Given the description of an element on the screen output the (x, y) to click on. 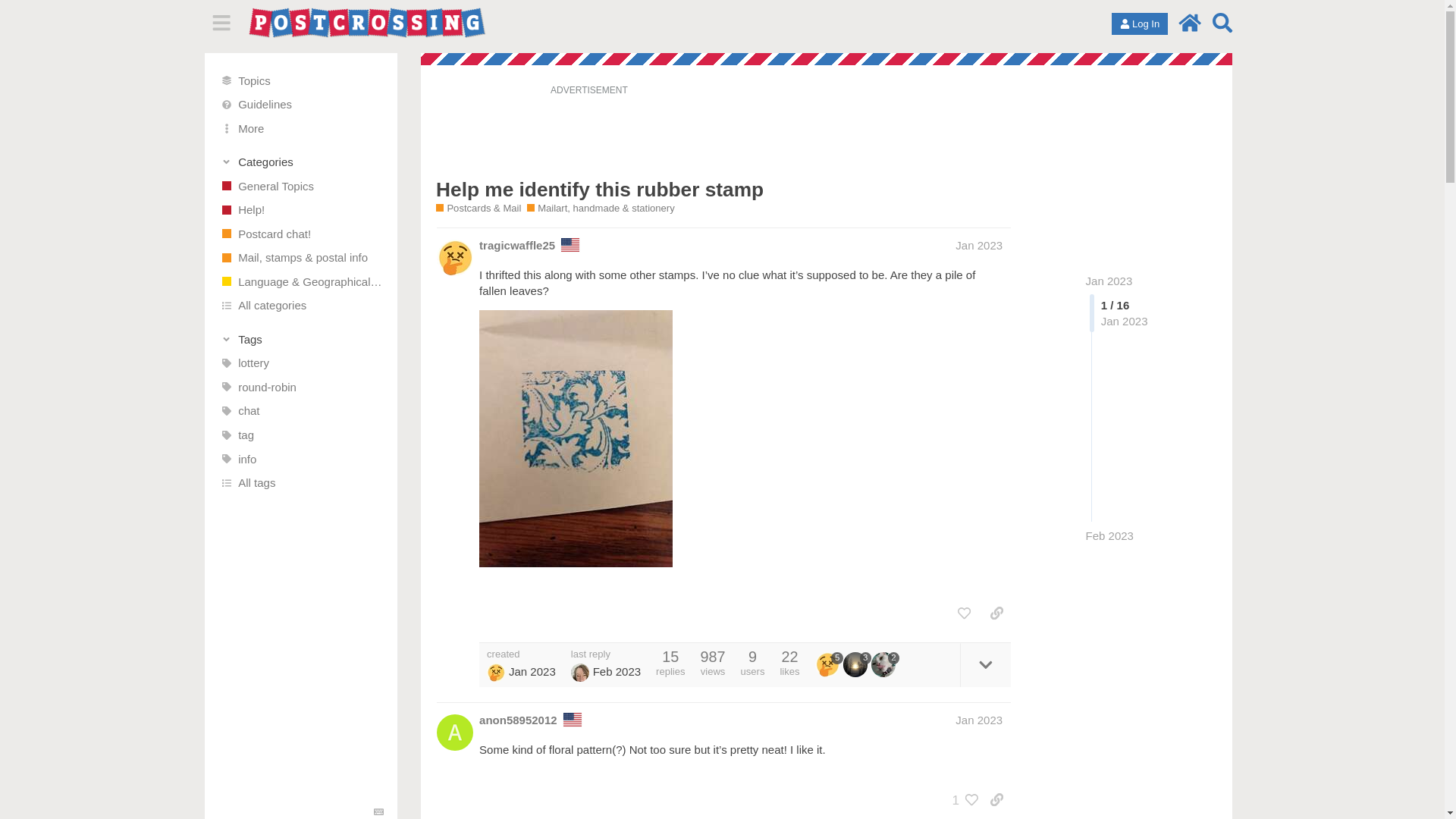
Postcard chat! (301, 233)
Win a card or something else (301, 363)
Toggle section (301, 338)
Categories (301, 161)
All categories (301, 305)
A place to discuss in your own language. (301, 282)
Guidelines (301, 104)
Feb 2023 (1110, 535)
More (301, 128)
Help! (301, 209)
